Given the description of an element on the screen output the (x, y) to click on. 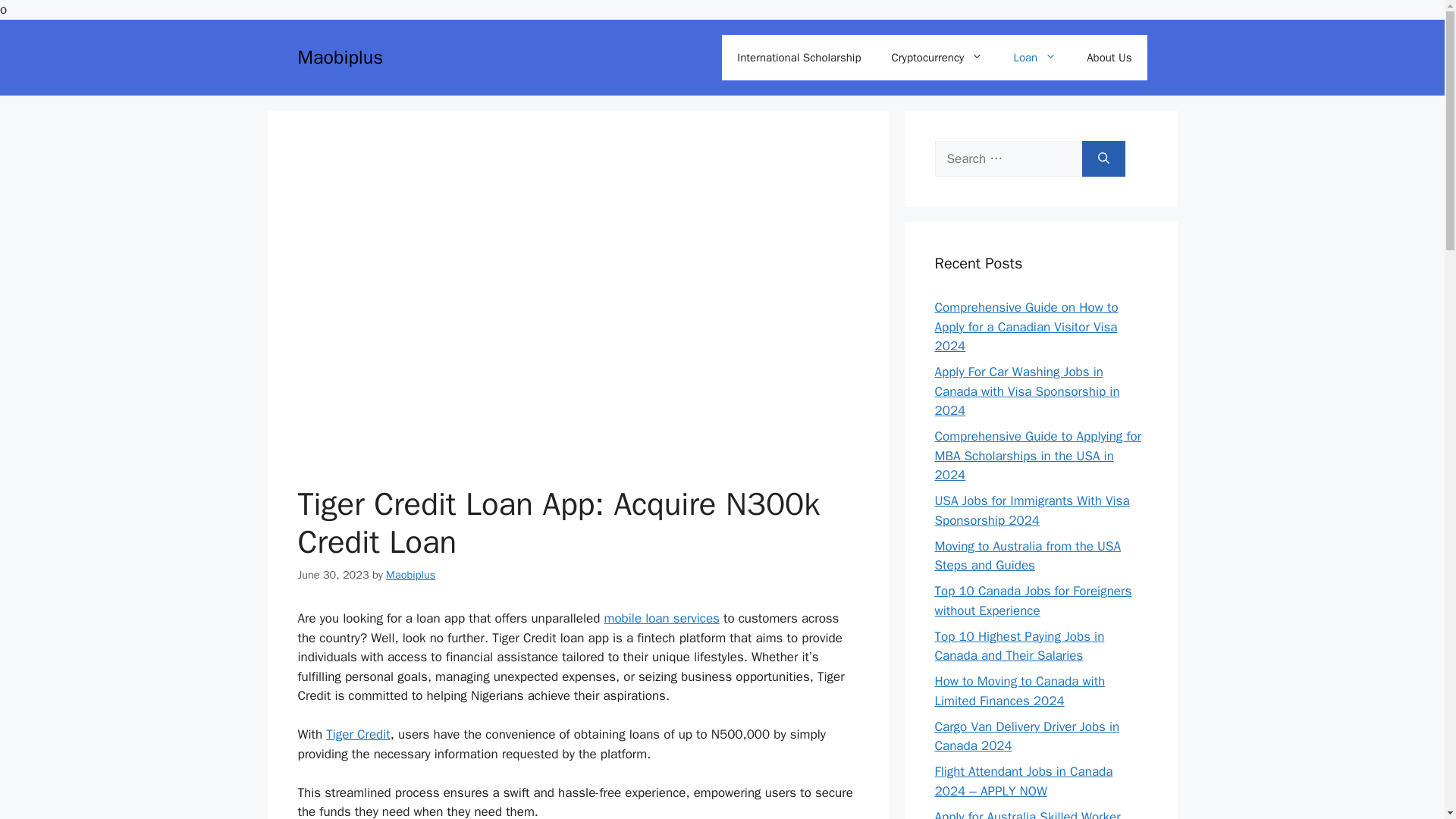
Maobiplus (410, 573)
How to Moving to Canada with Limited Finances 2024 (1019, 691)
Loan (1034, 57)
Apply for Australia Skilled Worker Visa 2024 (1026, 813)
Cryptocurrency (937, 57)
View all posts by Maobiplus (410, 573)
mobile loan services (661, 618)
Maobiplus (339, 56)
Moving to Australia from the USA Steps and Guides (1027, 556)
Top 10 Canada Jobs for Foreigners without Experience (1032, 601)
Top 10 Highest Paying Jobs in Canada and Their Salaries (1018, 645)
Search for: (1007, 158)
About Us (1109, 57)
